Given the description of an element on the screen output the (x, y) to click on. 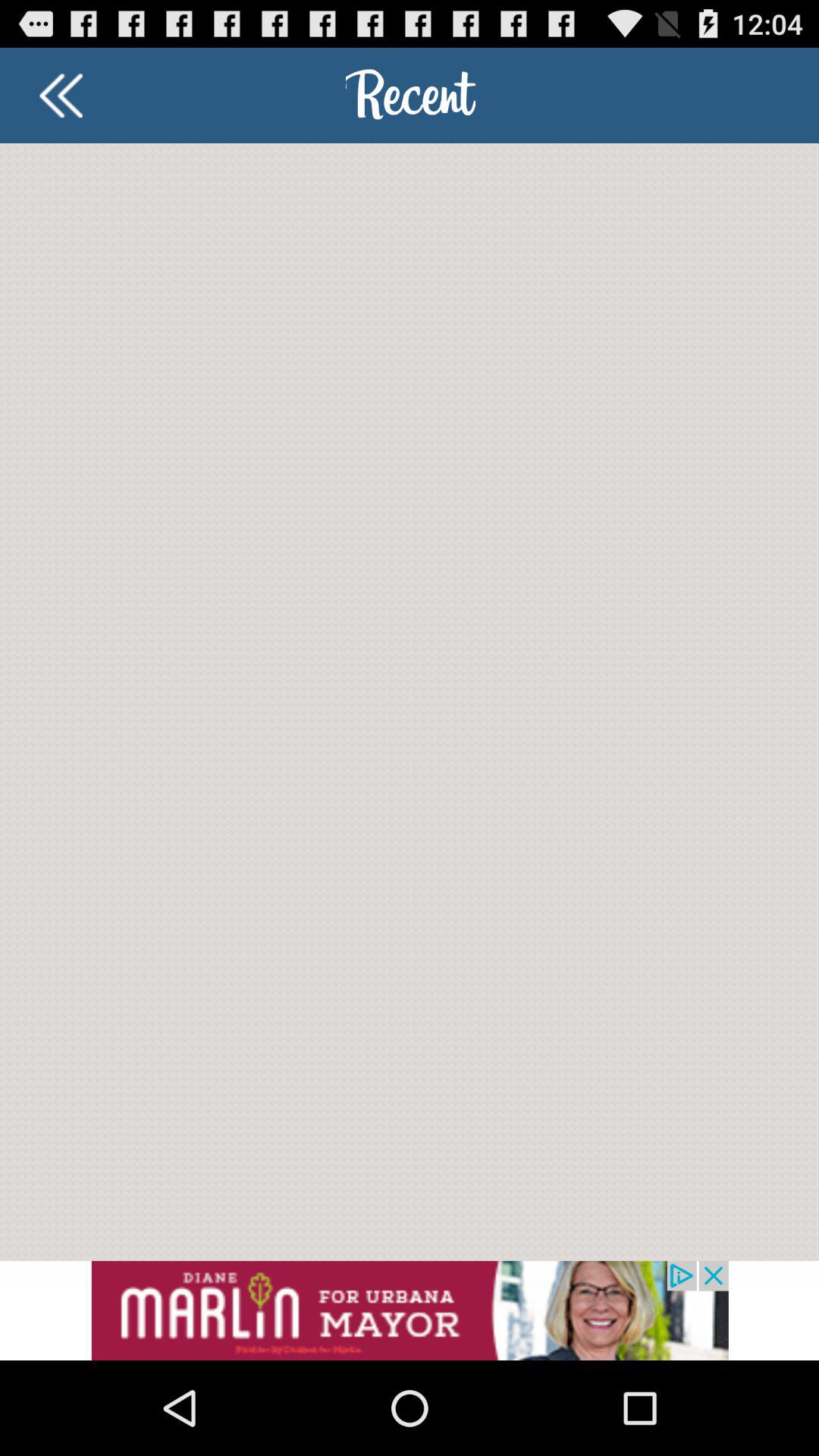
click on advertisement below (409, 1310)
